Given the description of an element on the screen output the (x, y) to click on. 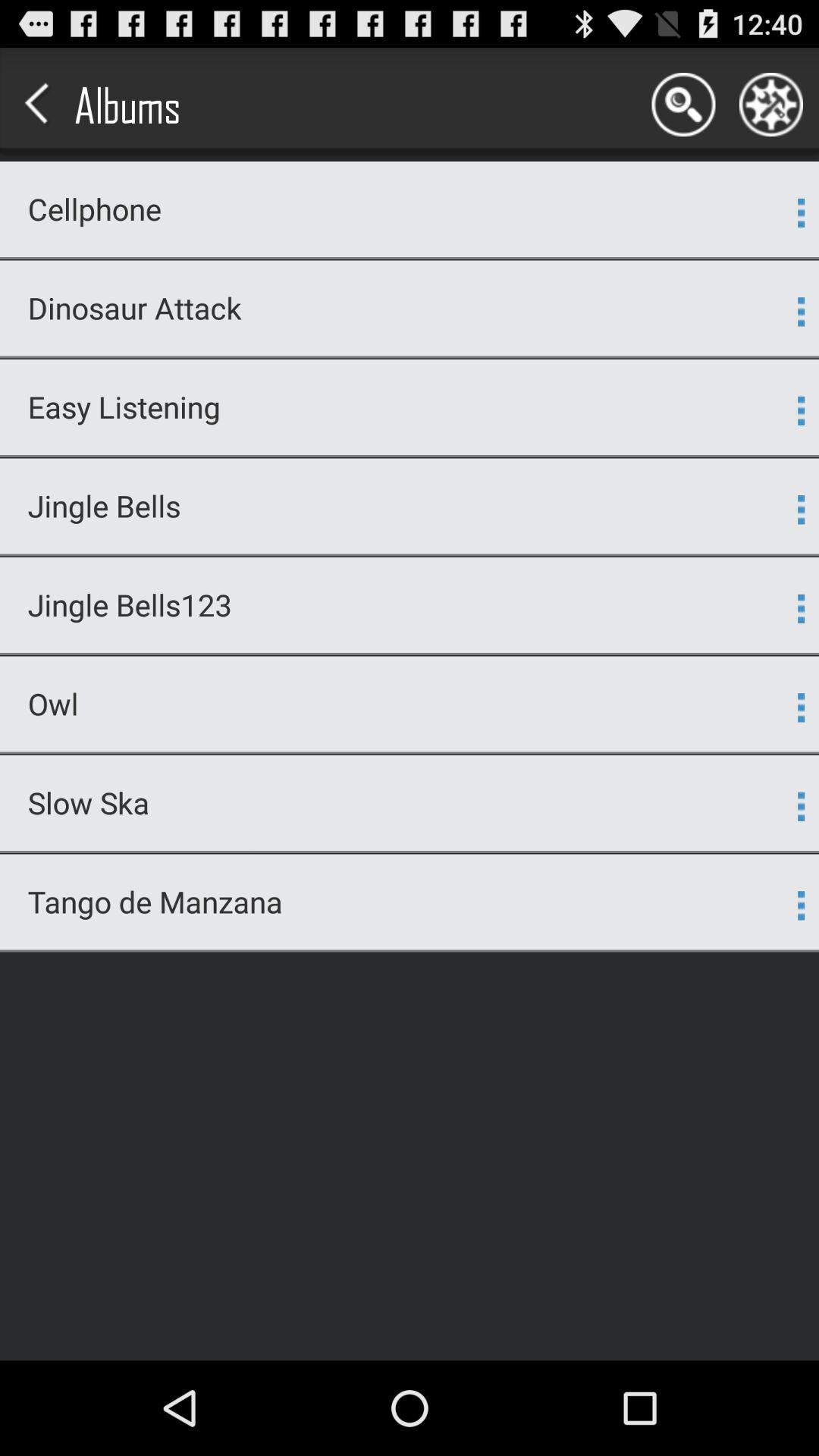
turn on the icon above jingle bells123 icon (409, 554)
